Given the description of an element on the screen output the (x, y) to click on. 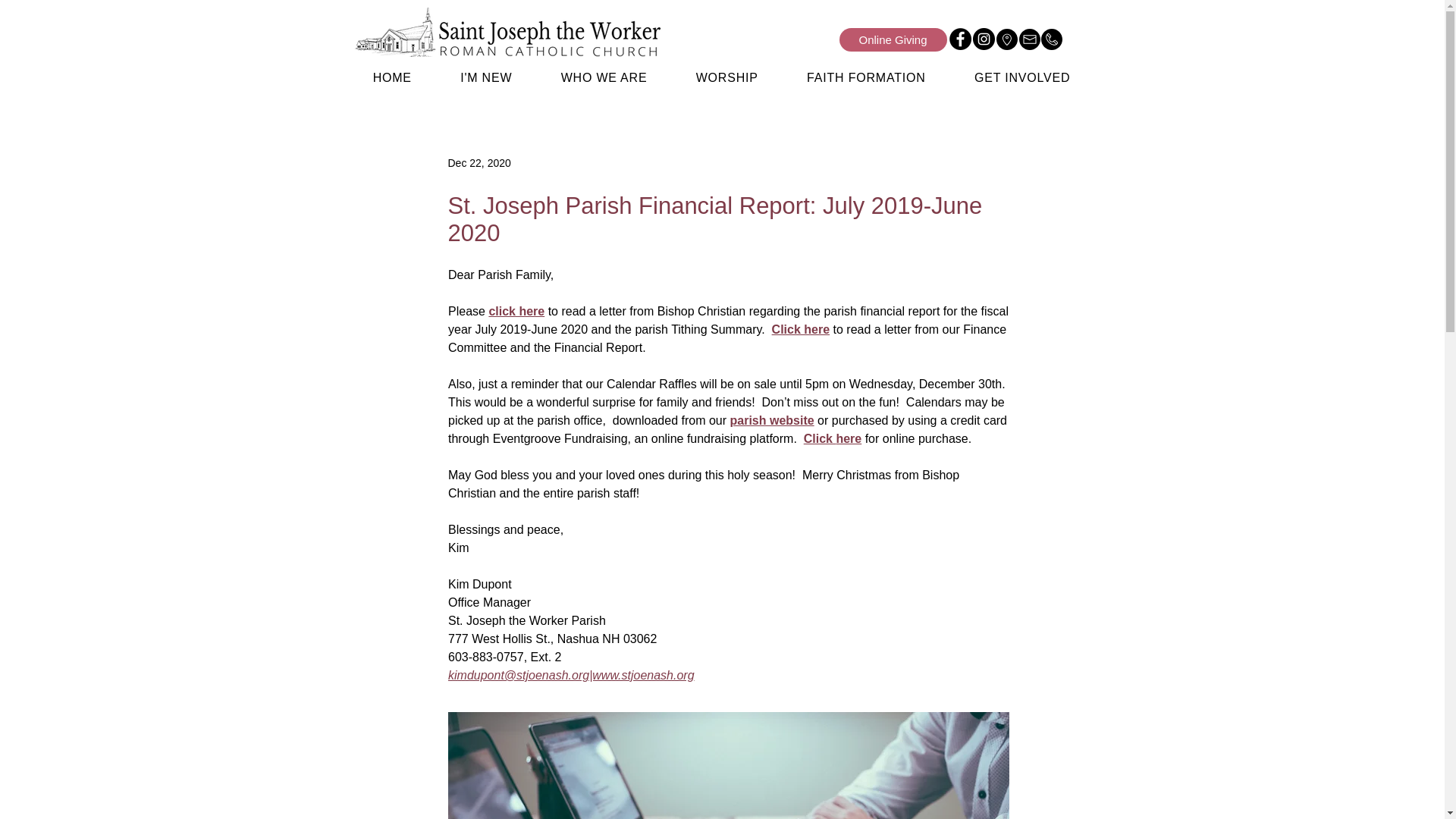
HOME (392, 77)
Online Giving (892, 39)
Dec 22, 2020 (478, 162)
